Given the description of an element on the screen output the (x, y) to click on. 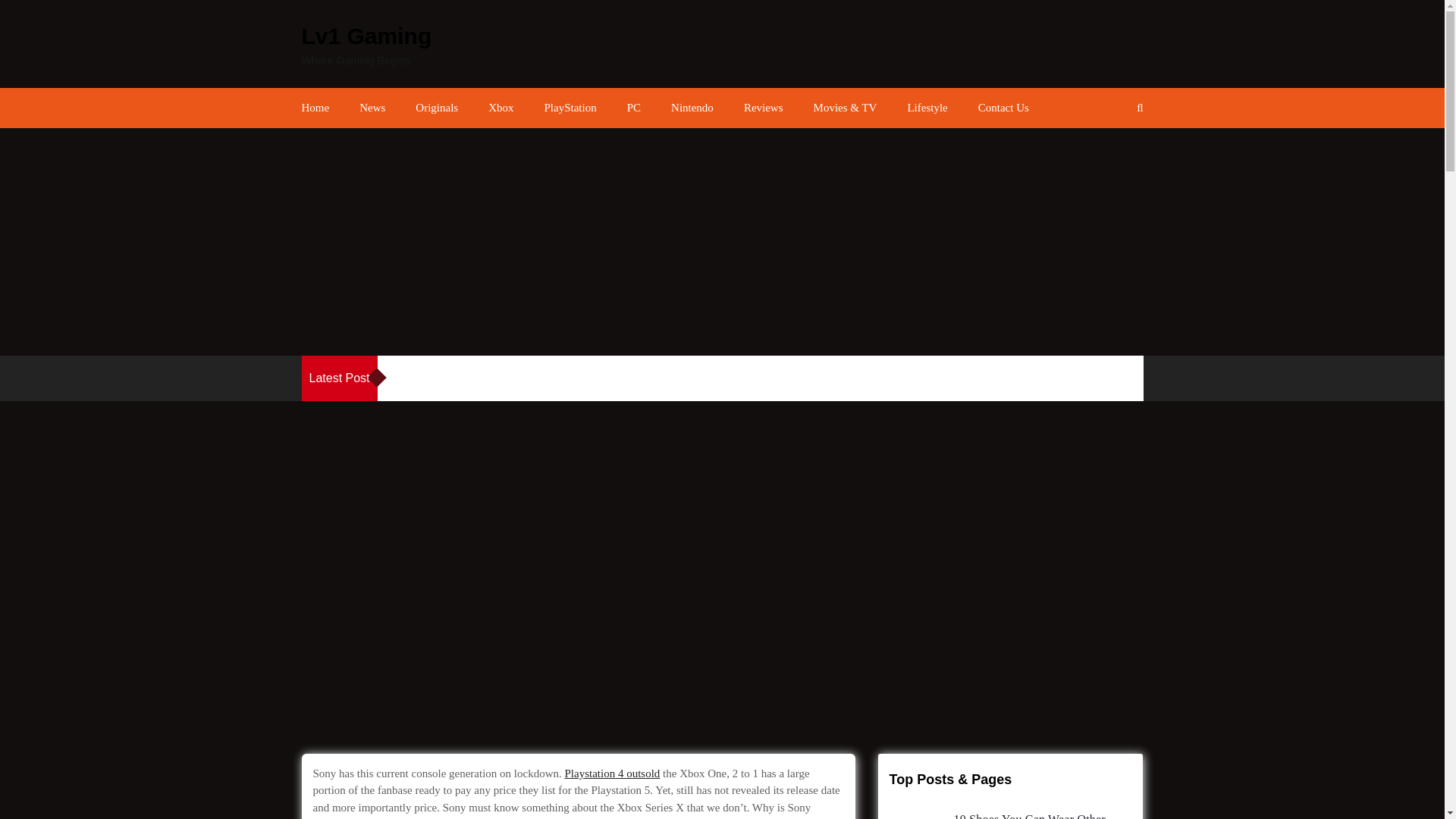
LA Noire Developers Working On A New Project (546, 378)
Lifestyle (927, 107)
Lv1 Gaming (366, 35)
10 Shoes You Can Wear Other Than White Air Force 1s Low (1029, 816)
Contact Us (1003, 107)
Playstation 4 outsold (612, 773)
Home (315, 107)
Originals (436, 107)
PlayStation (570, 107)
Xbox (500, 107)
Reviews (763, 107)
News (372, 107)
Nintendo (692, 107)
PC (633, 107)
